Given the description of an element on the screen output the (x, y) to click on. 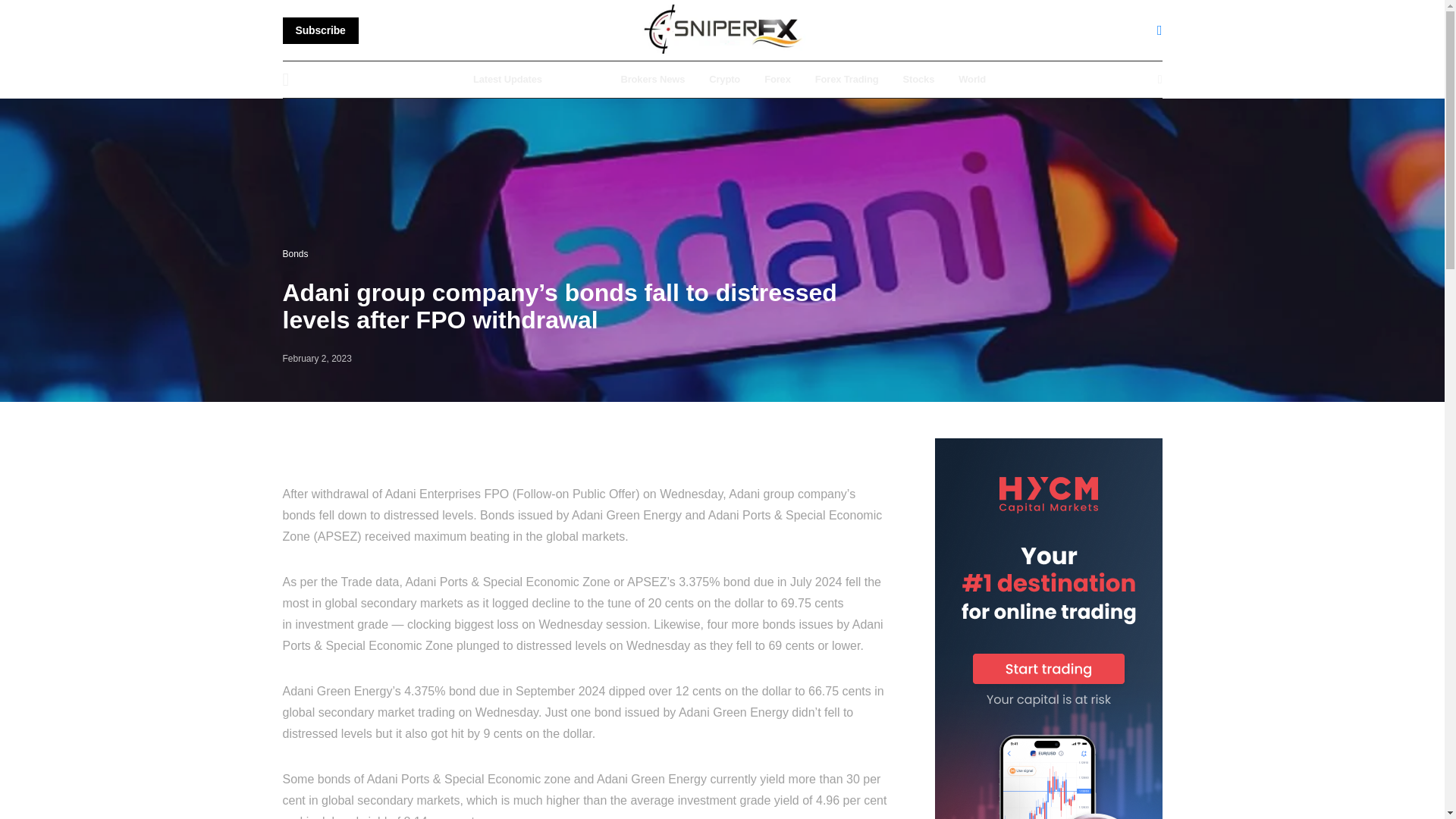
Subscribe (320, 29)
